Given the description of an element on the screen output the (x, y) to click on. 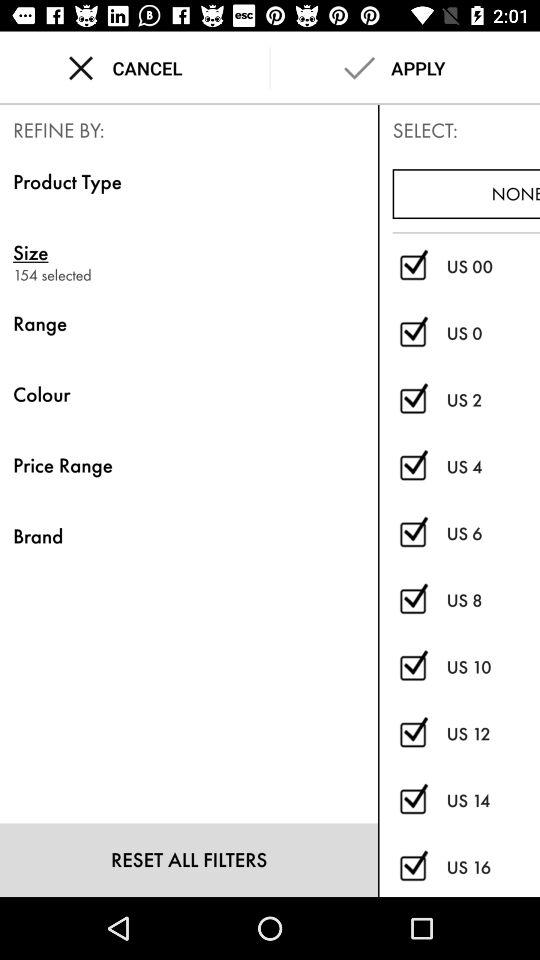
choose item above the us 14 icon (493, 734)
